Given the description of an element on the screen output the (x, y) to click on. 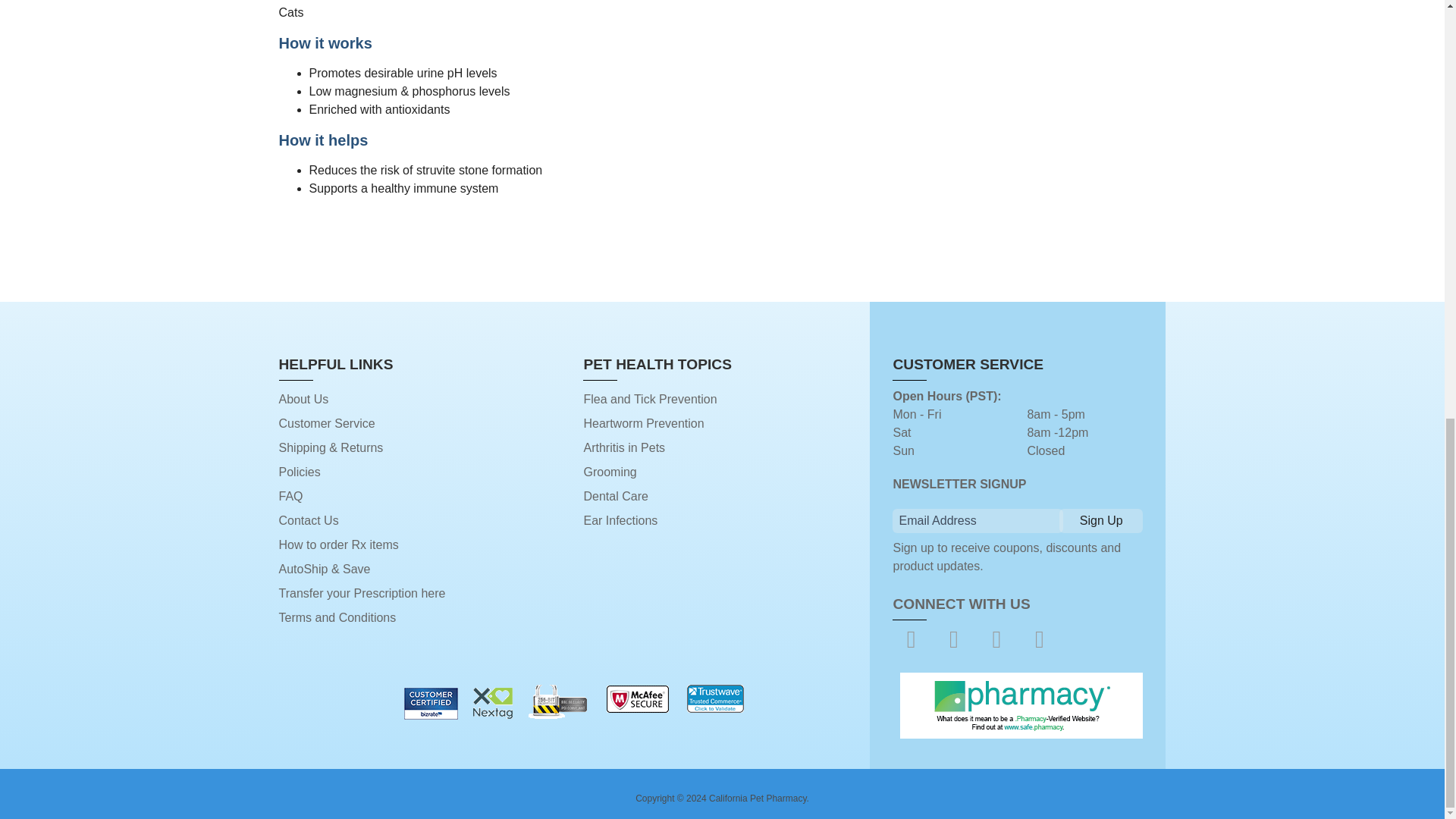
Twitter (954, 639)
Sign Up (1100, 520)
YouTube (996, 639)
Facebook (910, 639)
Sign Up (1100, 520)
